Given the description of an element on the screen output the (x, y) to click on. 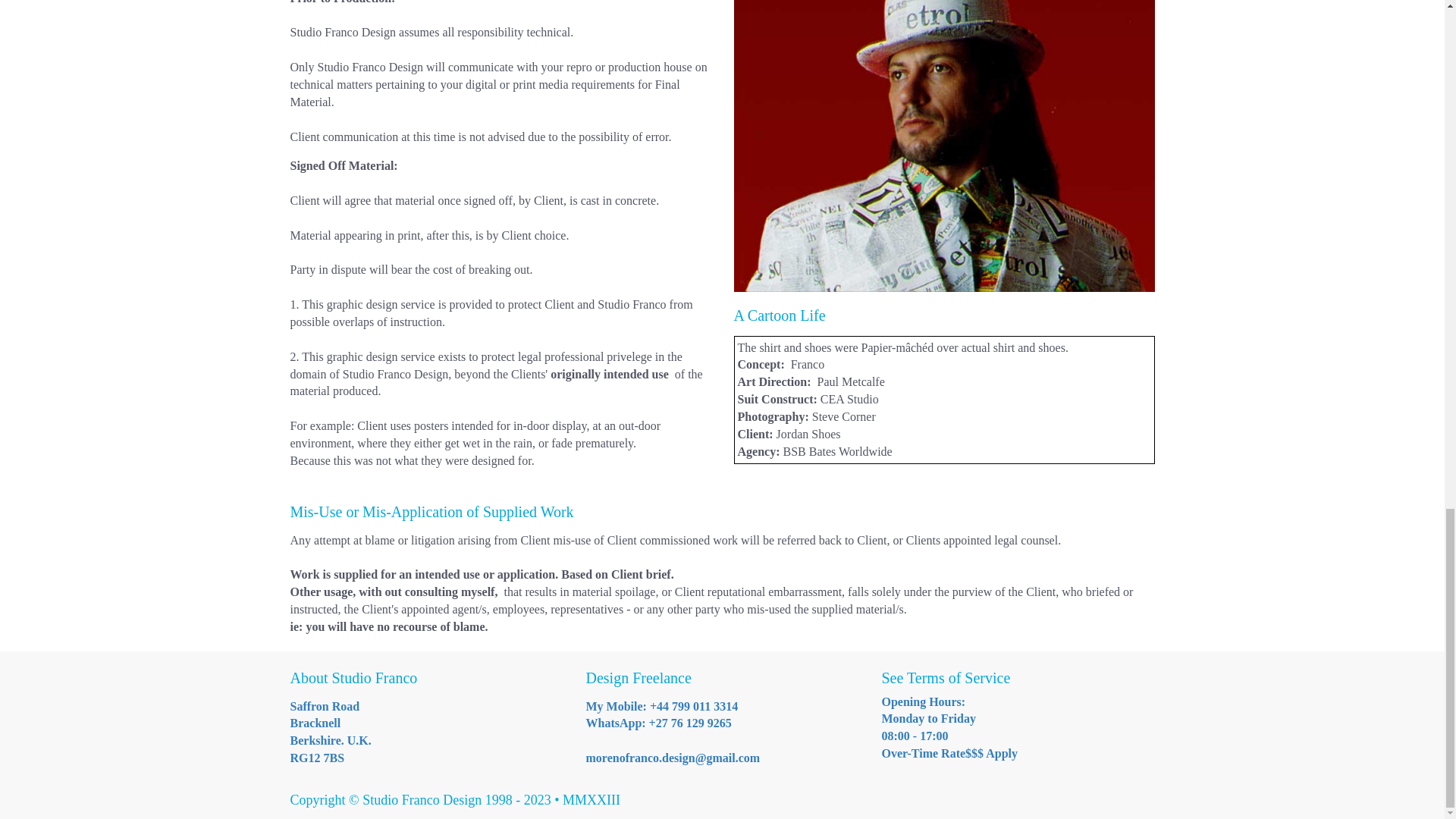
More Terms of Service (943, 145)
